Given the description of an element on the screen output the (x, y) to click on. 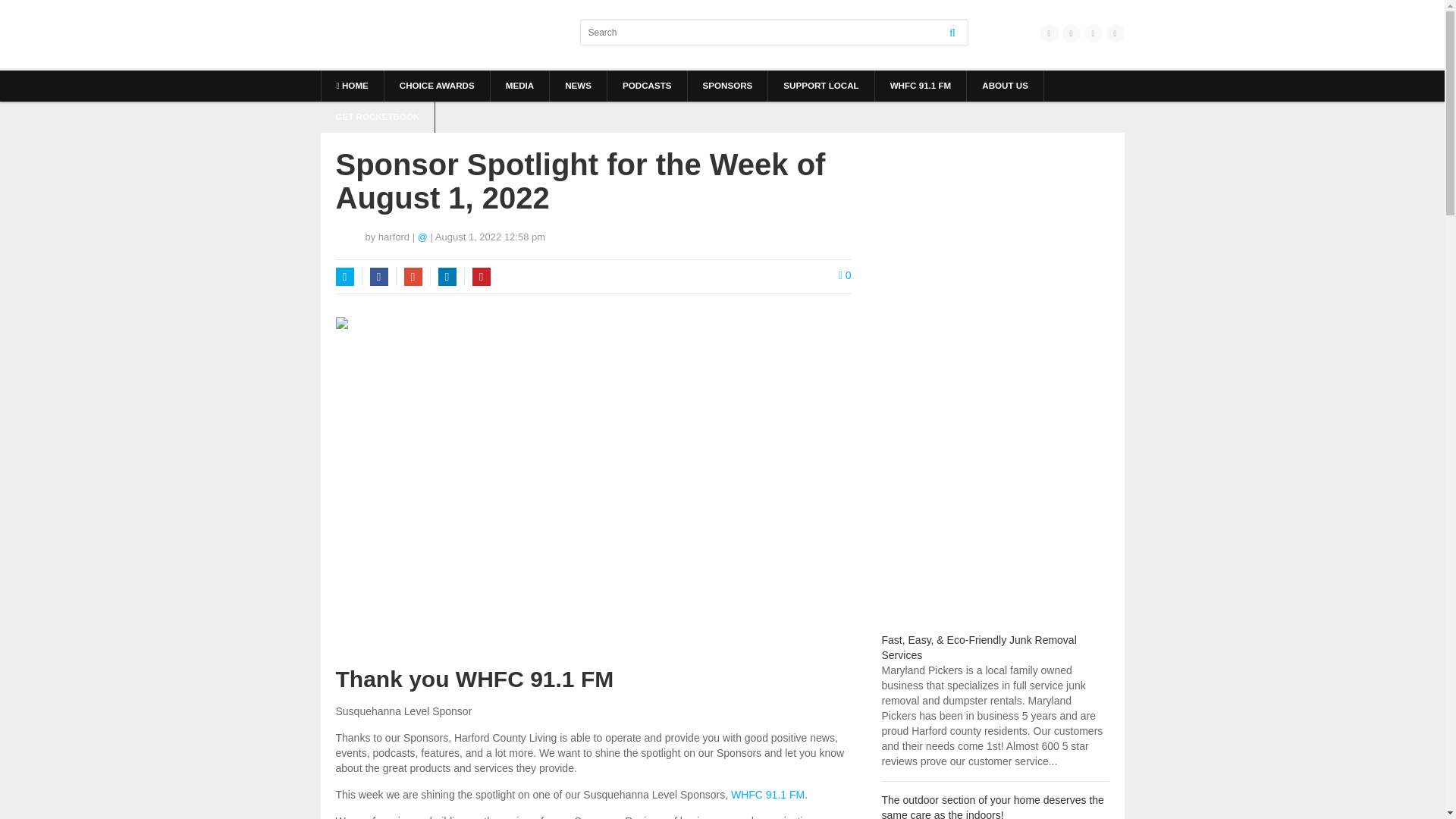
HOME (352, 85)
PODCASTS (647, 85)
SPONSORS (727, 85)
harford (393, 236)
ABOUT US (1004, 85)
GET ROCKETBOOK (376, 116)
LinkedIn (447, 276)
0 (844, 275)
CHOICE AWARDS (436, 85)
NEWS (578, 85)
Facebook (378, 276)
WHFC 91.1 FM (920, 85)
MEDIA (519, 85)
Twitter (343, 276)
